Given the description of an element on the screen output the (x, y) to click on. 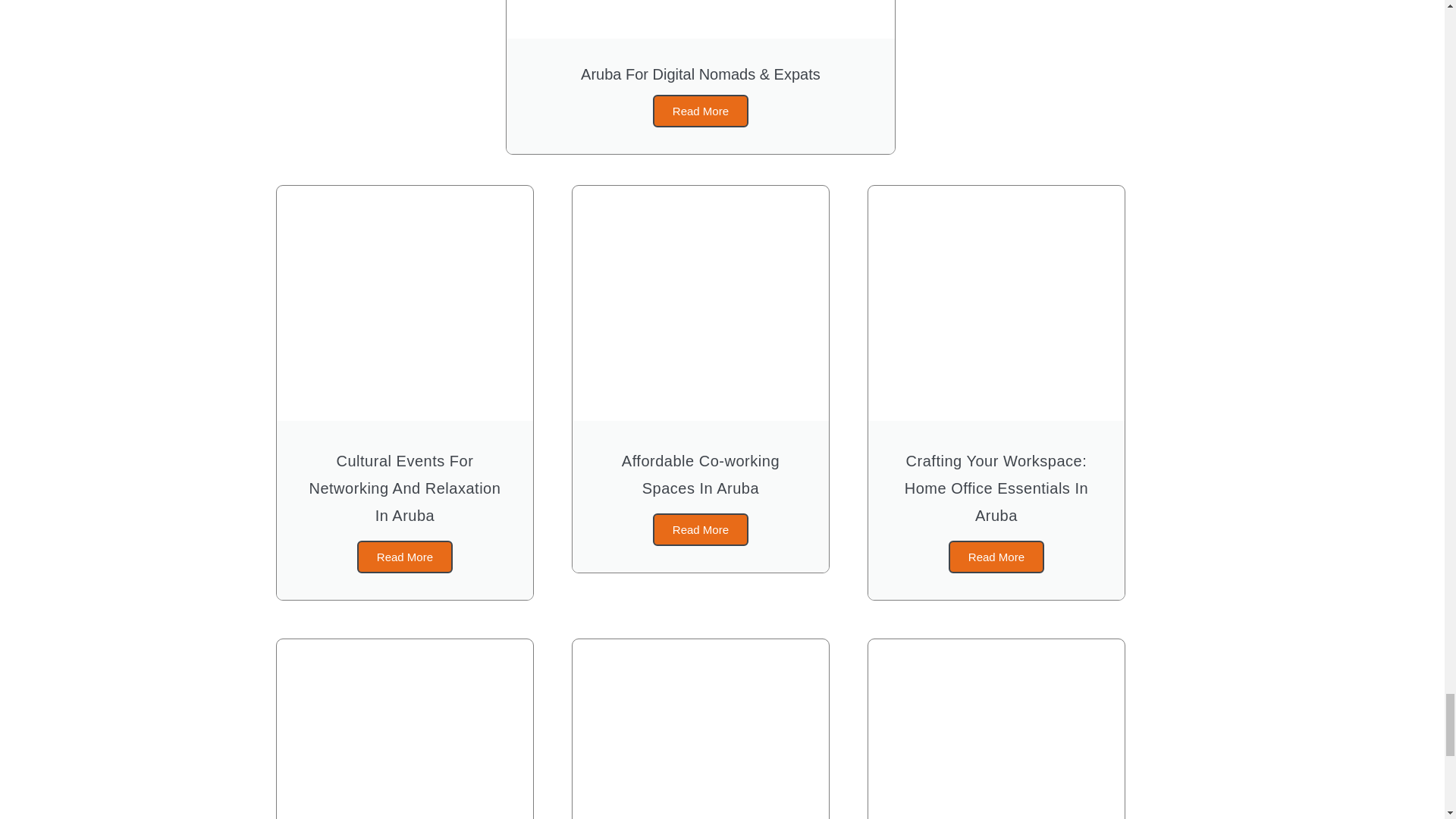
Read More (700, 529)
Read More (404, 556)
Read More (996, 556)
